Given the description of an element on the screen output the (x, y) to click on. 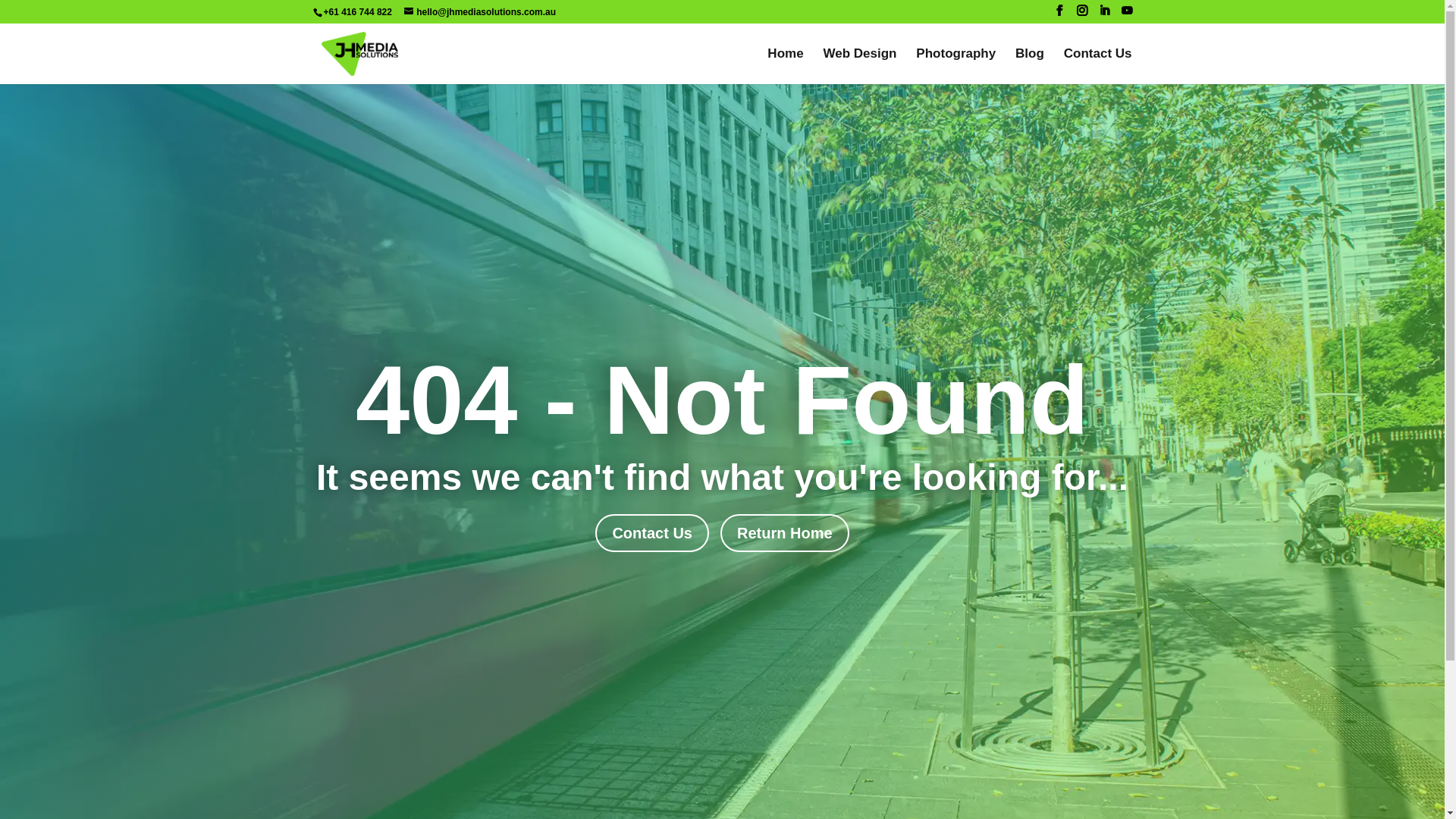
Home Element type: text (785, 66)
Photography Element type: text (955, 66)
Contact Us Element type: text (1097, 66)
hello@jhmediasolutions.com.au Element type: text (479, 11)
Web Design Element type: text (859, 66)
Contact Us Element type: text (652, 533)
Blog Element type: text (1029, 66)
Return Home Element type: text (784, 533)
